Given the description of an element on the screen output the (x, y) to click on. 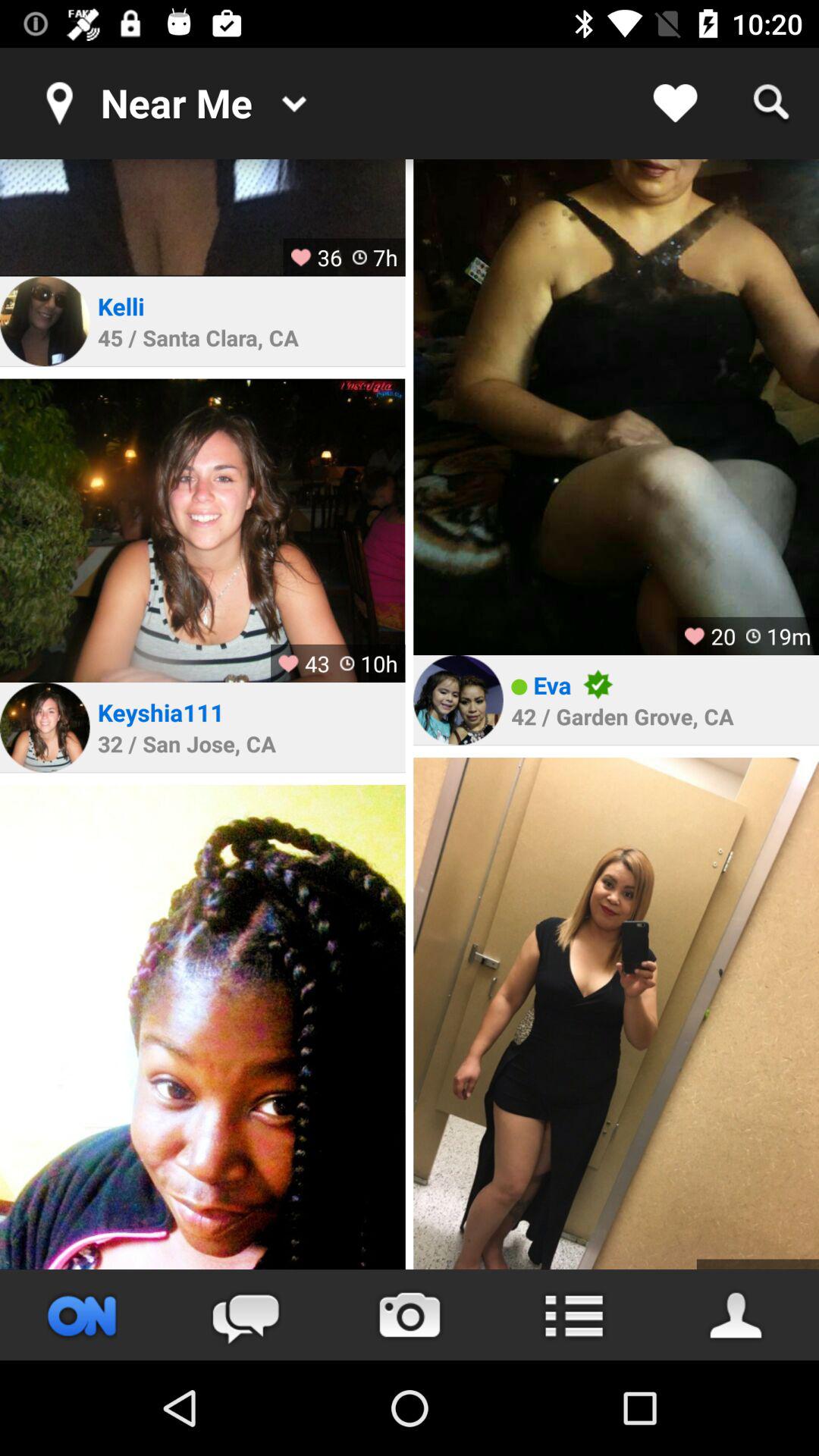
look friend 's profiles (737, 1315)
